Given the description of an element on the screen output the (x, y) to click on. 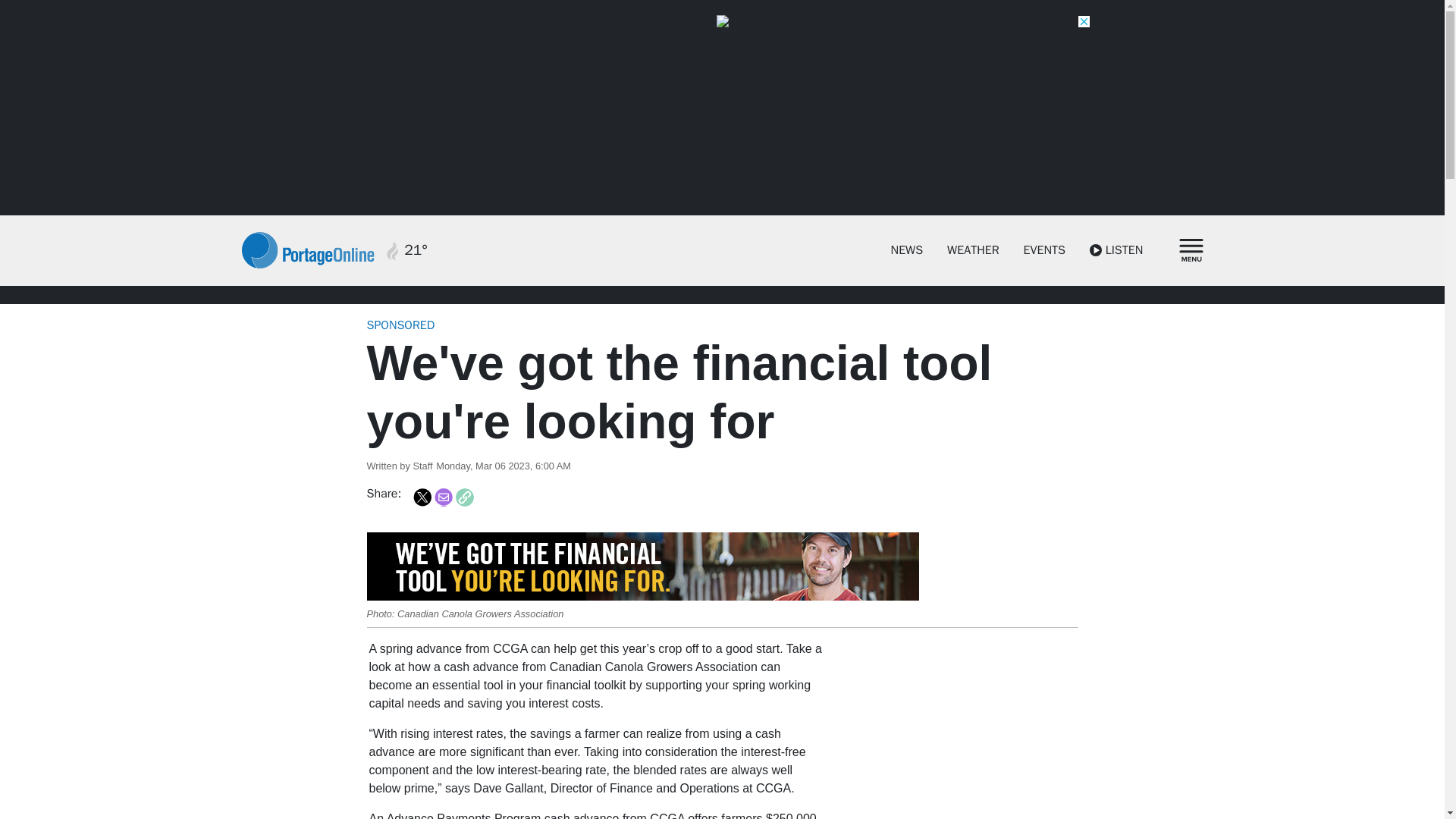
3rd party ad content (722, 22)
Copy Link (464, 497)
Share to Email (442, 497)
3rd party ad content (961, 729)
